Given the description of an element on the screen output the (x, y) to click on. 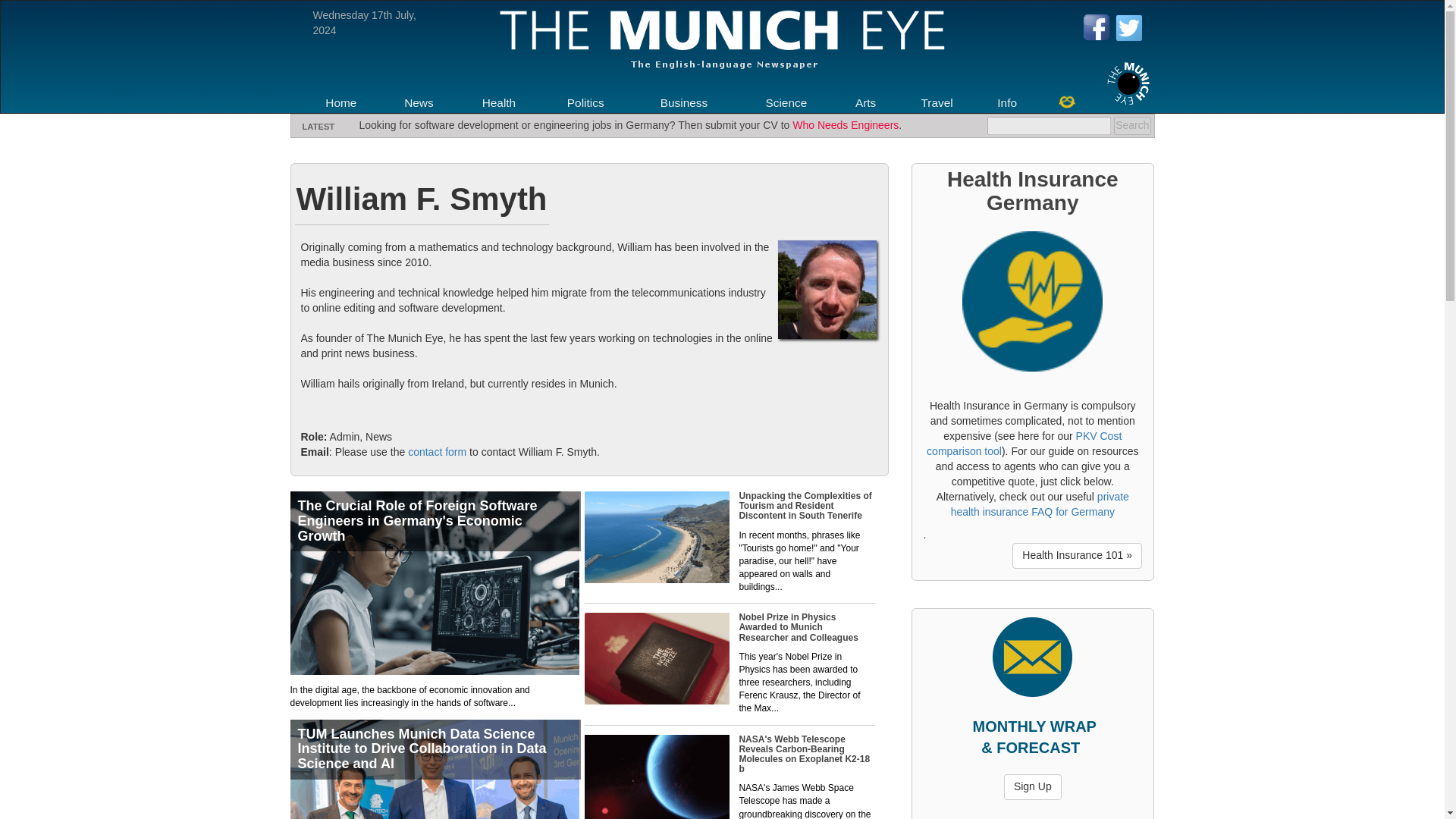
Munich Science News (785, 103)
Munich News (418, 103)
Science (785, 103)
Search (1131, 126)
Munich Arts news (866, 103)
Who Needs Engineers (845, 124)
Munich Politics News (585, 103)
Info (1006, 103)
contact form (436, 451)
Munich News, Health Insurance, Engineering Jobs (340, 103)
Search (1131, 126)
News (418, 103)
Home (340, 103)
Munich Lifestlye of Health and Sustainability (498, 103)
Golden Pretzel Articles (1067, 101)
